Given the description of an element on the screen output the (x, y) to click on. 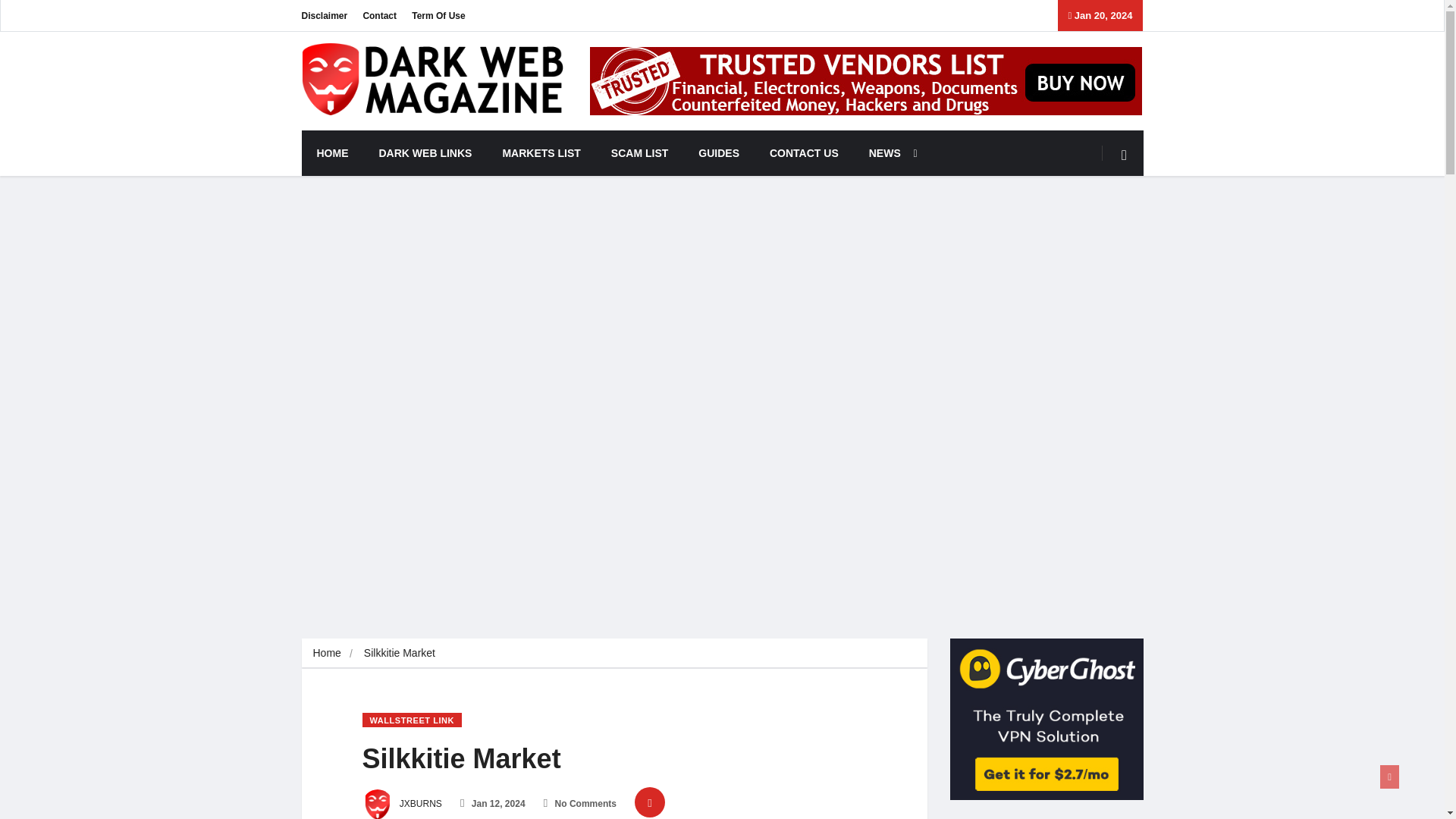
MARKETS LIST (540, 153)
GUIDES (718, 153)
Term Of Use (438, 15)
DARK WEB LINKS (425, 153)
SCAM LIST (638, 153)
NEWS (888, 153)
Home (326, 653)
Contact (379, 15)
HOME (332, 153)
JXBURNS (402, 803)
